Given the description of an element on the screen output the (x, y) to click on. 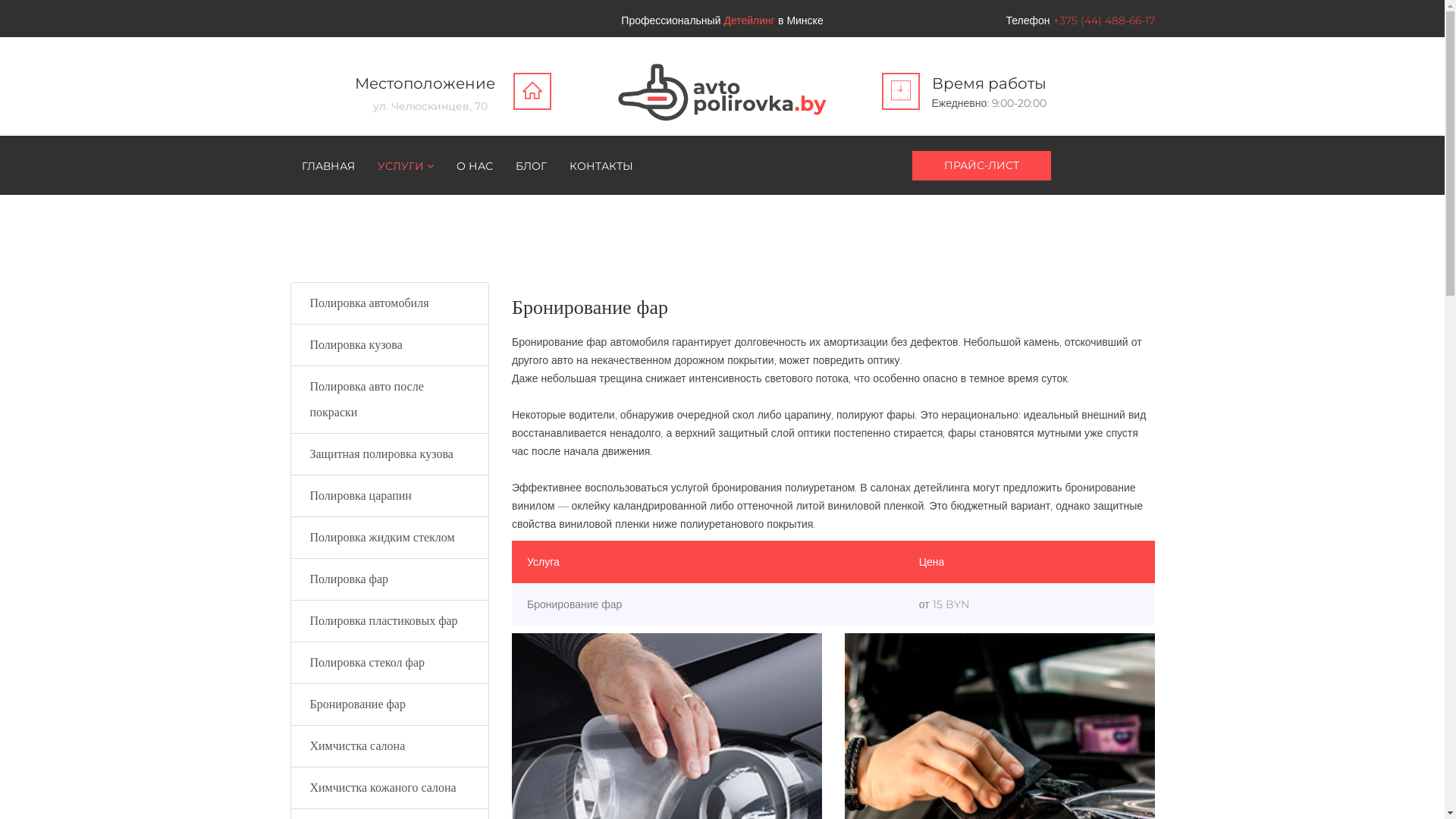
+375 (44) 488-66-17 Element type: text (1079, 20)
